Given the description of an element on the screen output the (x, y) to click on. 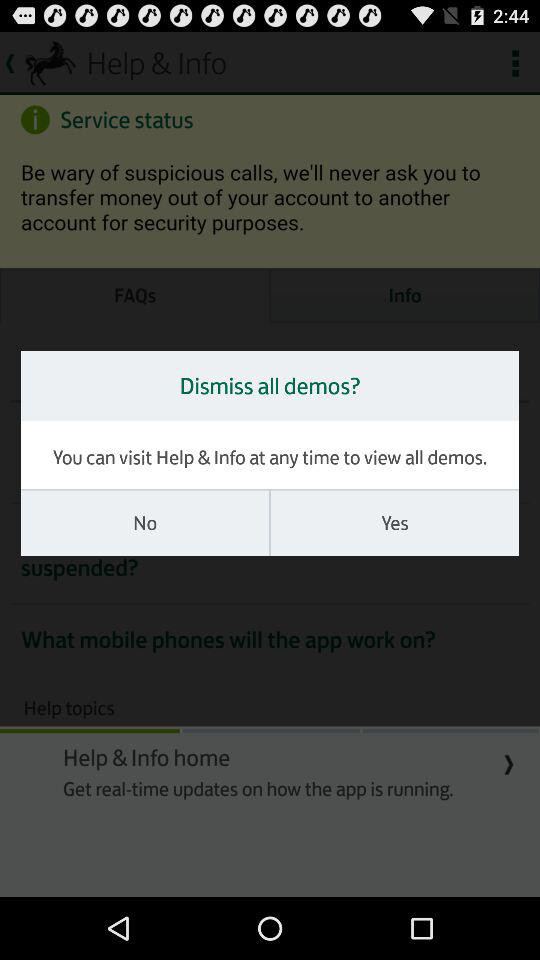
launch yes item (394, 523)
